Given the description of an element on the screen output the (x, y) to click on. 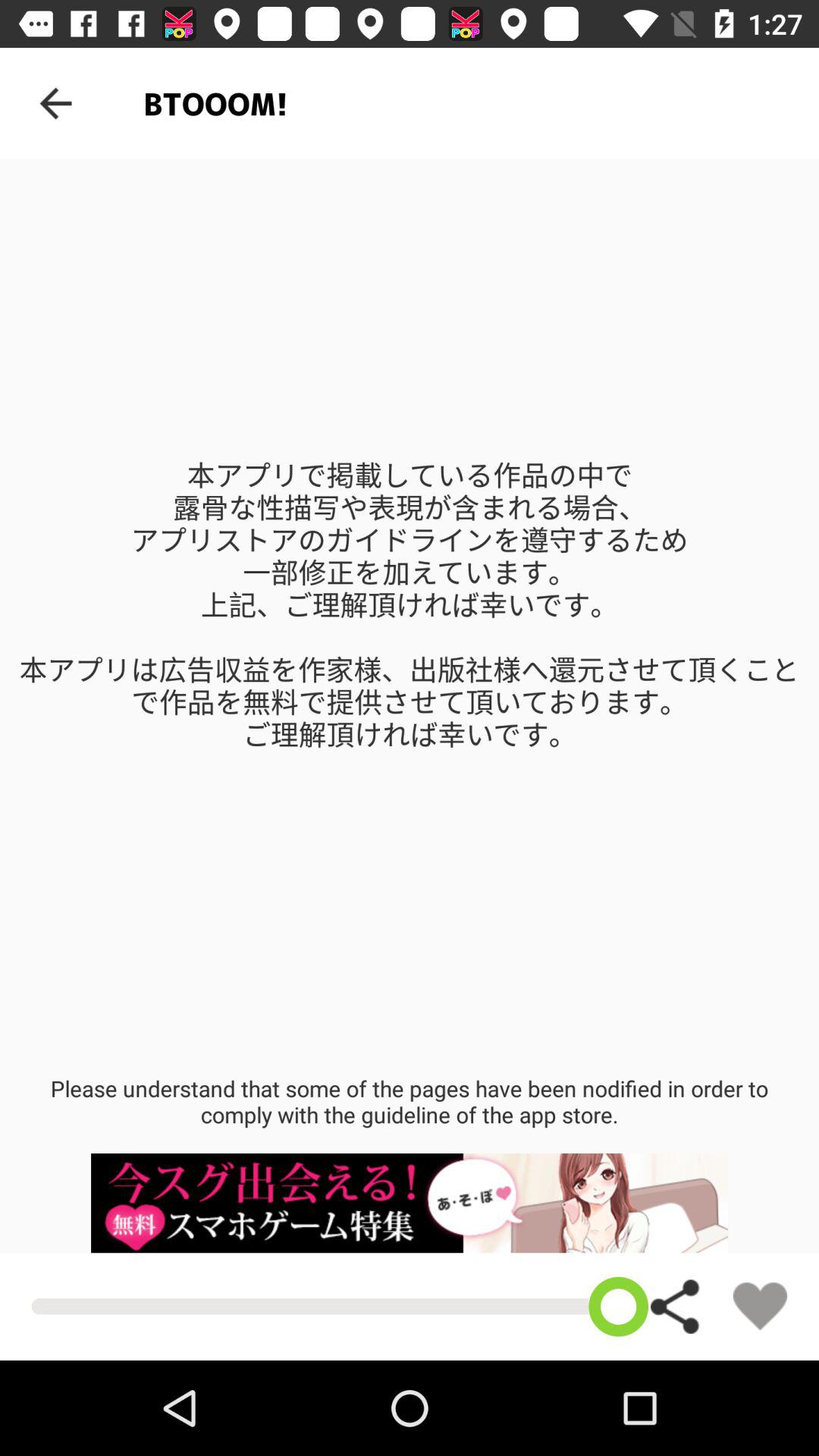
like content on page (760, 1306)
